Given the description of an element on the screen output the (x, y) to click on. 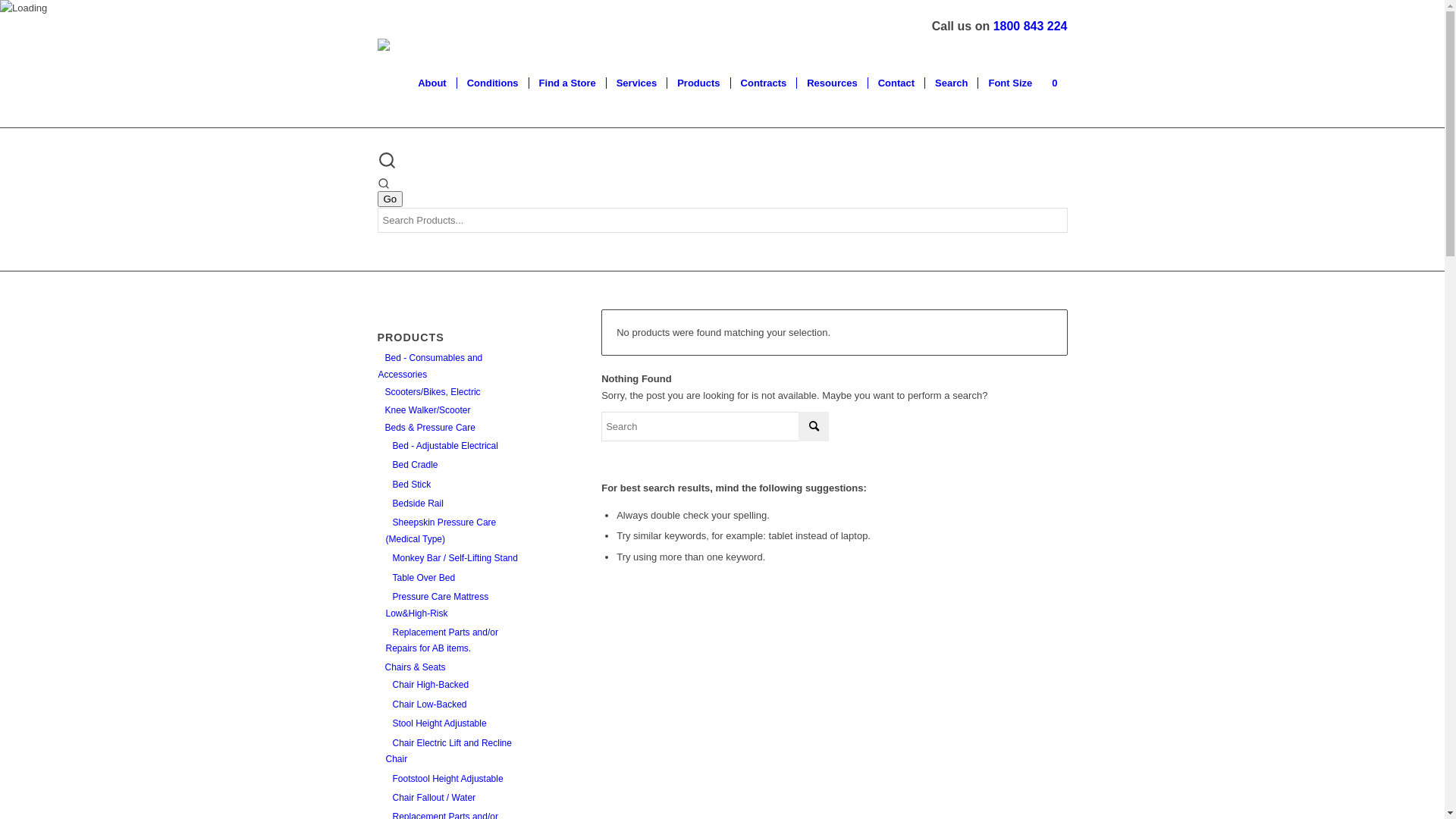
Resources Element type: text (831, 83)
Chair Low-Backed Element type: text (425, 704)
Table Over Bed Element type: text (420, 577)
Scooters/Bikes, Electric Element type: text (428, 391)
Footstool Height Adjustable Element type: text (443, 778)
Chair High-Backed Element type: text (426, 684)
Stool Height Adjustable Element type: text (435, 723)
Replacement Parts and/or Repairs for AB items. Element type: text (441, 640)
Products Element type: text (697, 83)
Chair Fallout / Water Element type: text (430, 797)
Services Element type: text (636, 83)
Beds & Pressure Care Element type: text (425, 427)
Font Size Element type: text (1009, 83)
Monkey Bar / Self-Lifting Stand Element type: text (451, 557)
Bed - Adjustable Electrical Element type: text (441, 445)
Bedside Rail Element type: text (413, 503)
Pressure Care Mattress Low&High-Risk Element type: text (436, 604)
Chairs & Seats Element type: text (411, 667)
Contracts Element type: text (763, 83)
1800 843 224 Element type: text (1030, 25)
Find a Store Element type: text (566, 83)
Bed Cradle Element type: text (411, 464)
0 Element type: text (1053, 83)
Contact Element type: text (895, 83)
Chair Electric Lift and Recline Chair Element type: text (448, 750)
Loading Element type: hover (23, 7)
Bed - Consumables and Accessories Element type: text (429, 365)
Bed Stick Element type: text (407, 484)
Conditions Element type: text (492, 83)
Sheepskin Pressure Care (Medical Type) Element type: text (440, 530)
Knee Walker/Scooter Element type: text (423, 409)
About Element type: text (431, 83)
Search Element type: text (950, 83)
